Given the description of an element on the screen output the (x, y) to click on. 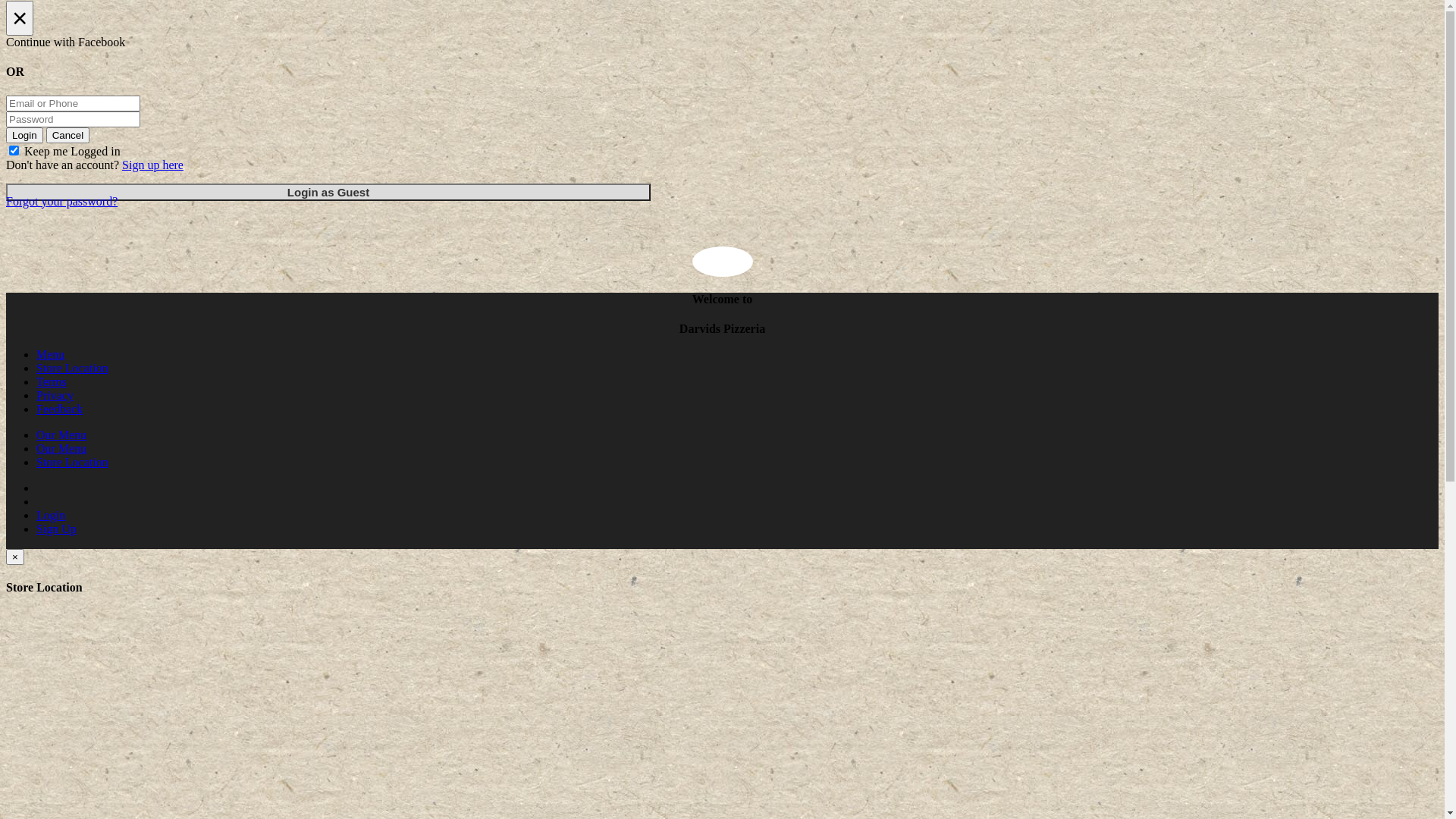
Continue with Facebook Element type: text (722, 42)
Login as Guest Element type: text (328, 191)
Menu Element type: text (50, 354)
Login as Guest Element type: text (328, 191)
Login Element type: text (24, 135)
Forgot your password? Element type: text (61, 200)
Store Location Element type: text (72, 461)
Terms Element type: text (51, 381)
Feedback Element type: text (59, 408)
Store Location Element type: text (72, 367)
Our Menu Element type: text (61, 448)
Privacy Element type: text (54, 395)
Cancel Element type: text (68, 135)
Sign Up Element type: text (56, 528)
Sign up here Element type: text (152, 164)
Our Menu Element type: text (61, 434)
Login Element type: text (50, 514)
